Given the description of an element on the screen output the (x, y) to click on. 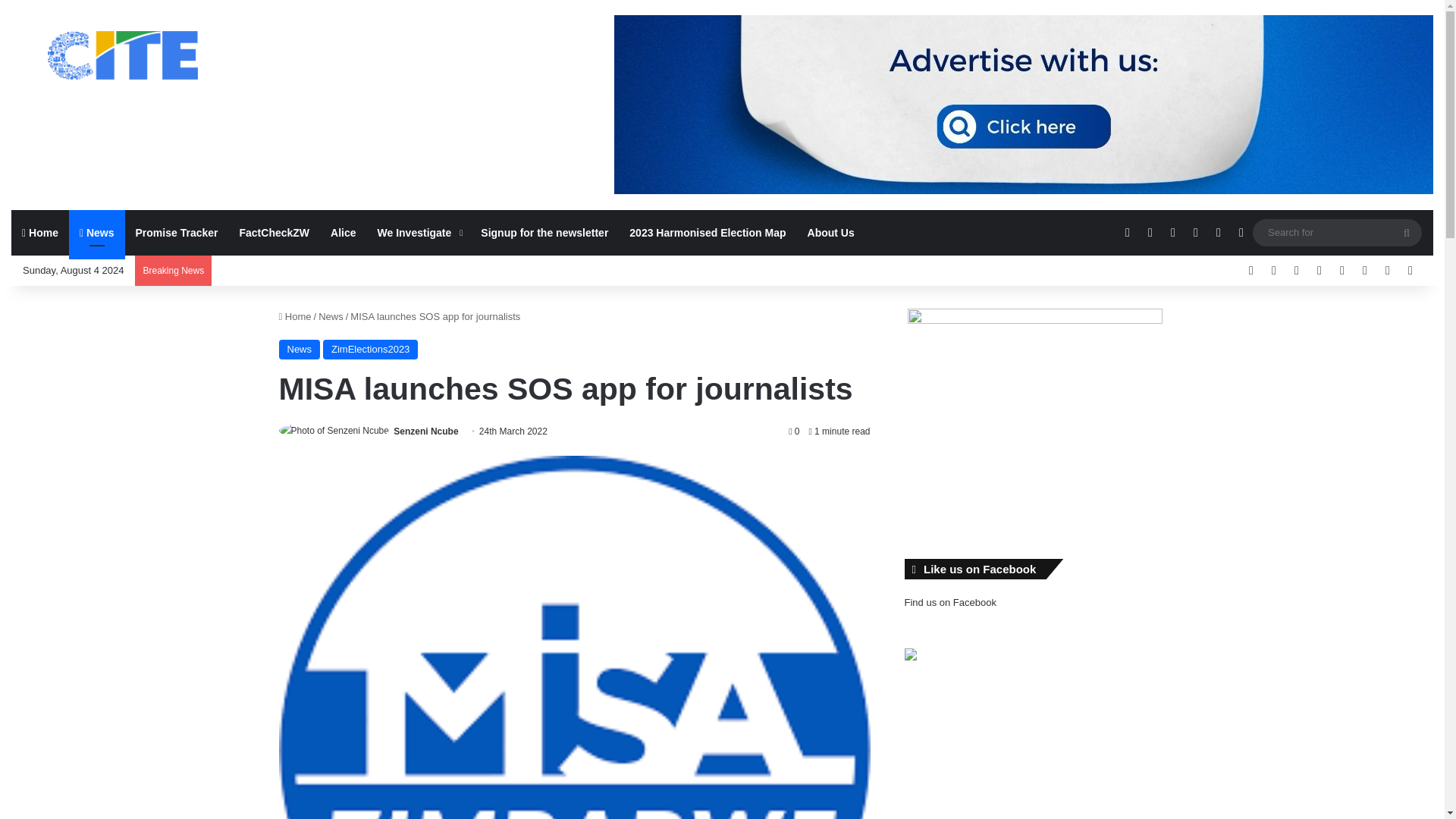
About Us (830, 232)
2023 Harmonised Election Map (707, 232)
Search for (1406, 232)
Search for (1337, 231)
Alice (343, 232)
Home (39, 232)
Senzeni Ncube (425, 430)
Signup for the newsletter (544, 232)
We Investigate (418, 232)
Promise Tracker (176, 232)
FactCheckZW (274, 232)
News (96, 232)
